Given the description of an element on the screen output the (x, y) to click on. 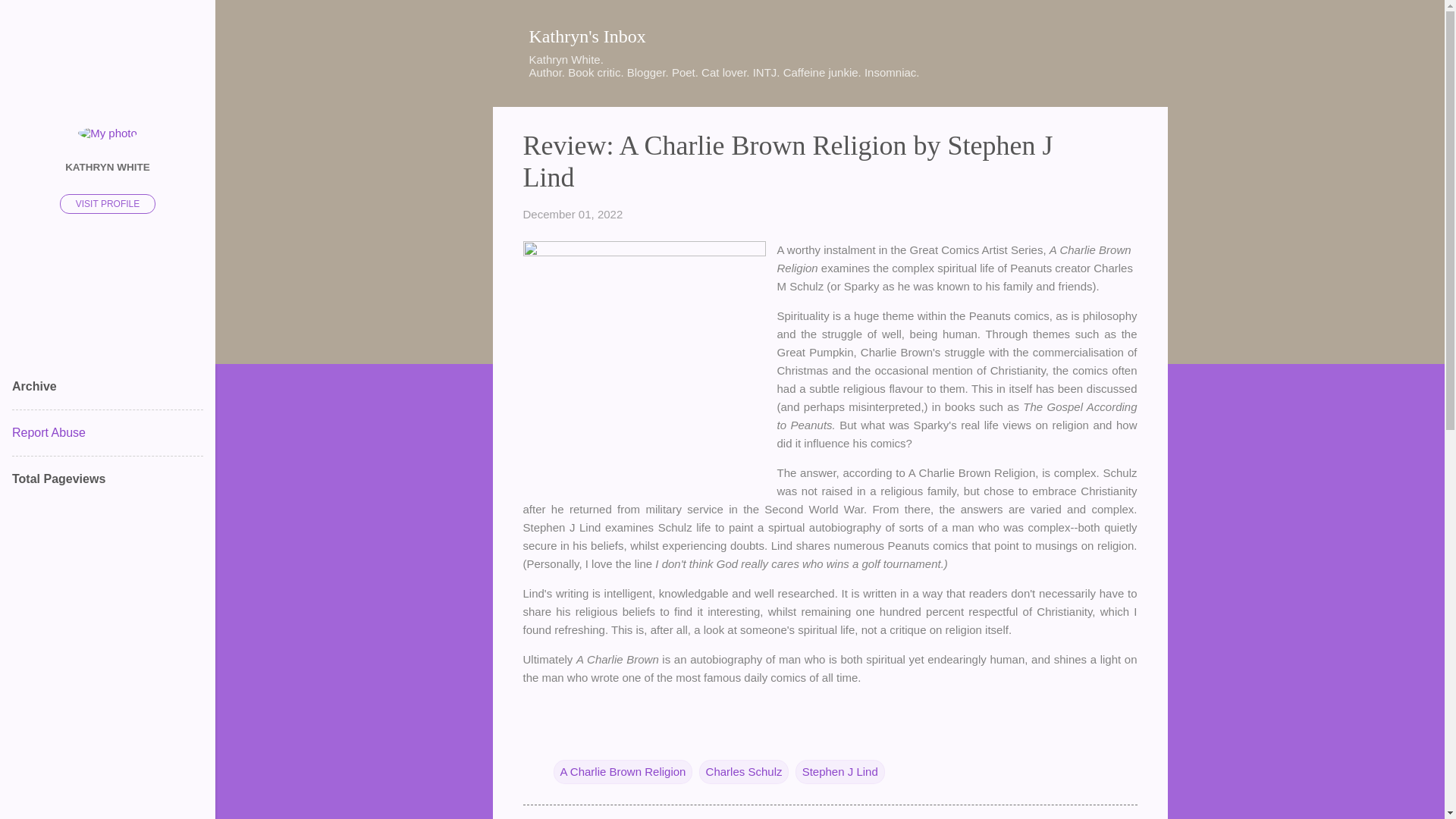
Email Post (562, 739)
KATHRYN WHITE (107, 166)
Charles Schulz (743, 771)
Kathryn's Inbox (587, 35)
permanent link (572, 214)
VISIT PROFILE (107, 203)
December 01, 2022 (572, 214)
Search (29, 18)
A Charlie Brown Religion (623, 771)
Stephen J Lind (839, 771)
